Given the description of an element on the screen output the (x, y) to click on. 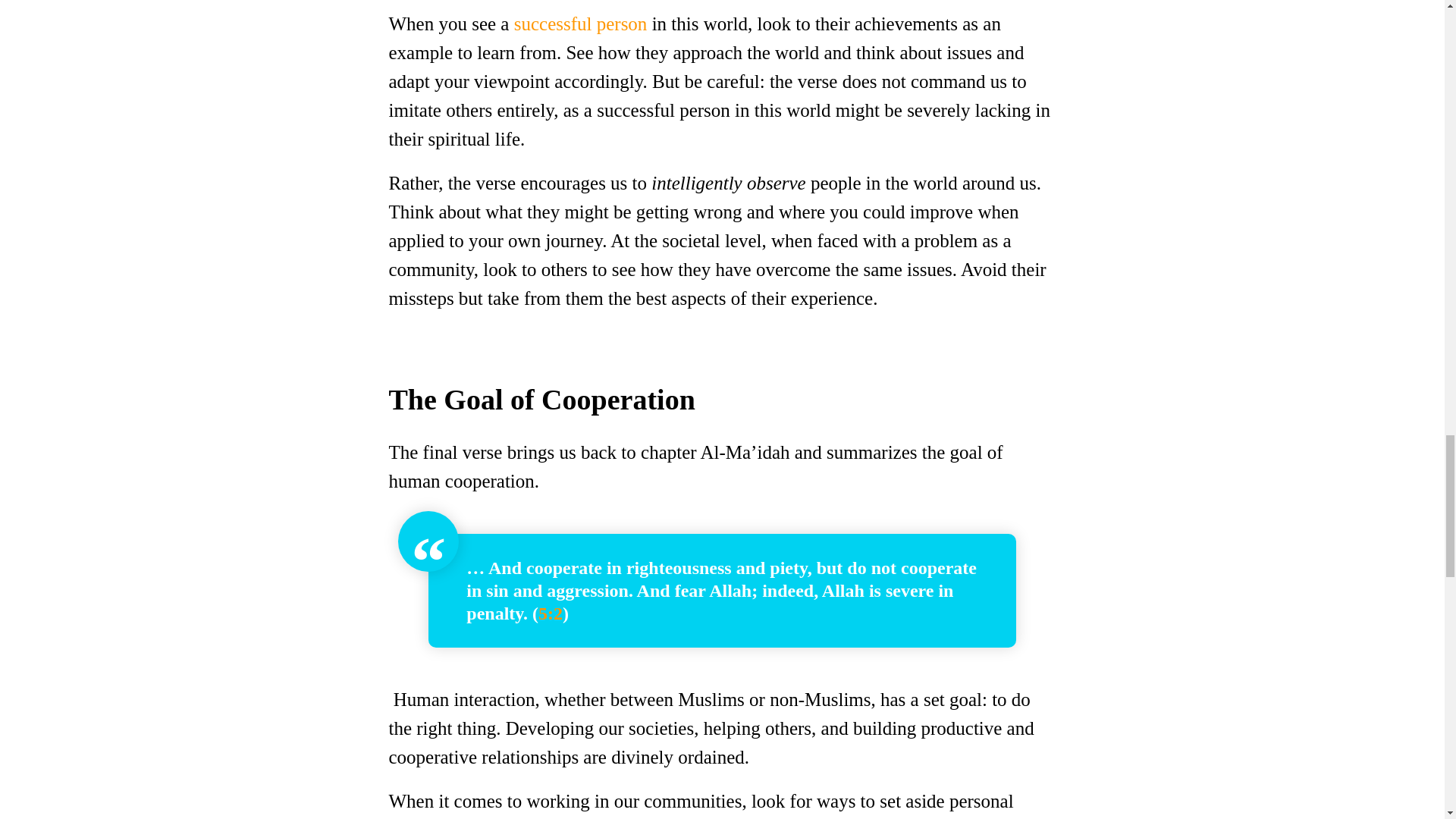
5:2 (550, 613)
successful person (580, 23)
